Given the description of an element on the screen output the (x, y) to click on. 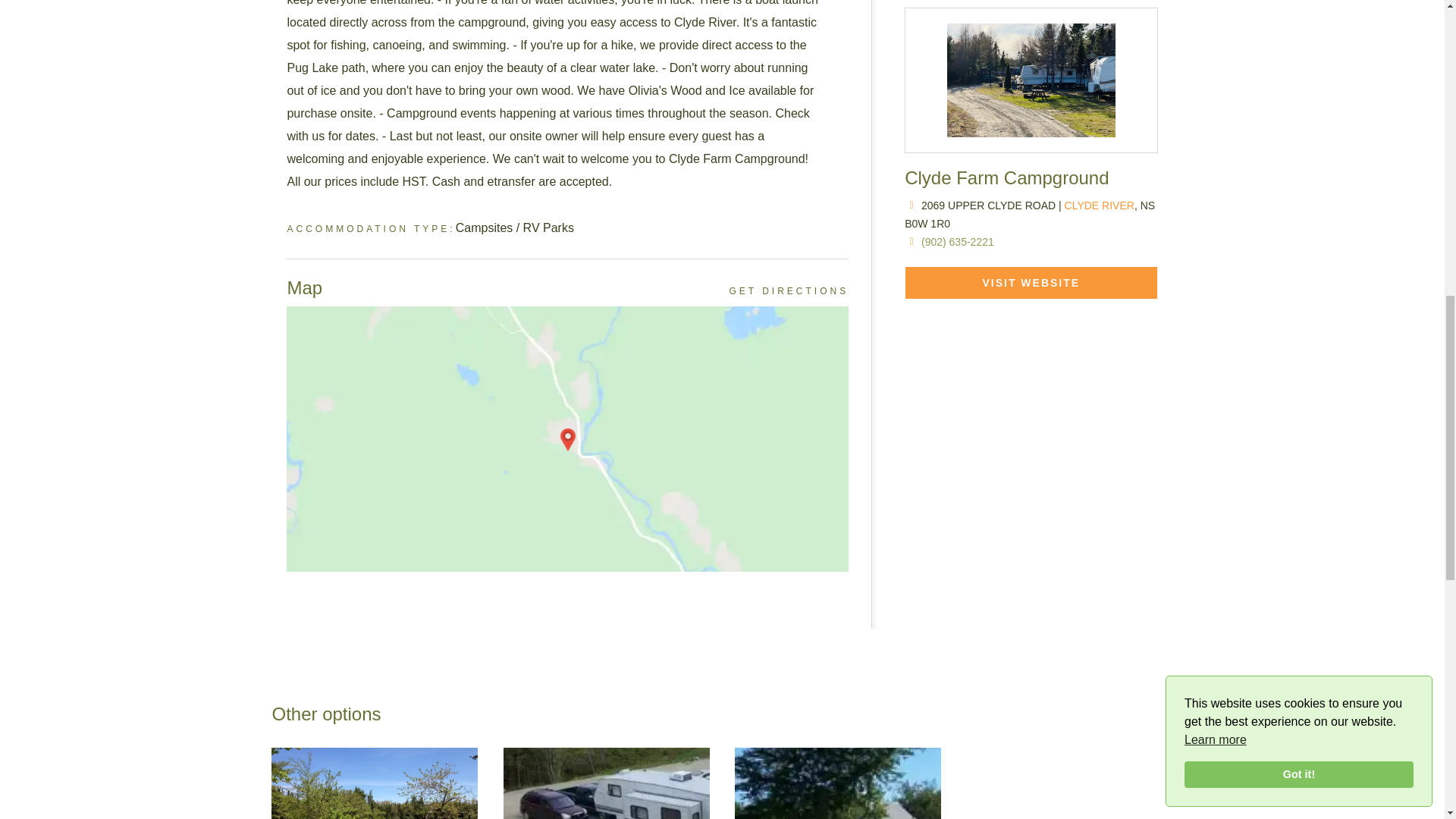
GET DIRECTIONS (788, 291)
